Given the description of an element on the screen output the (x, y) to click on. 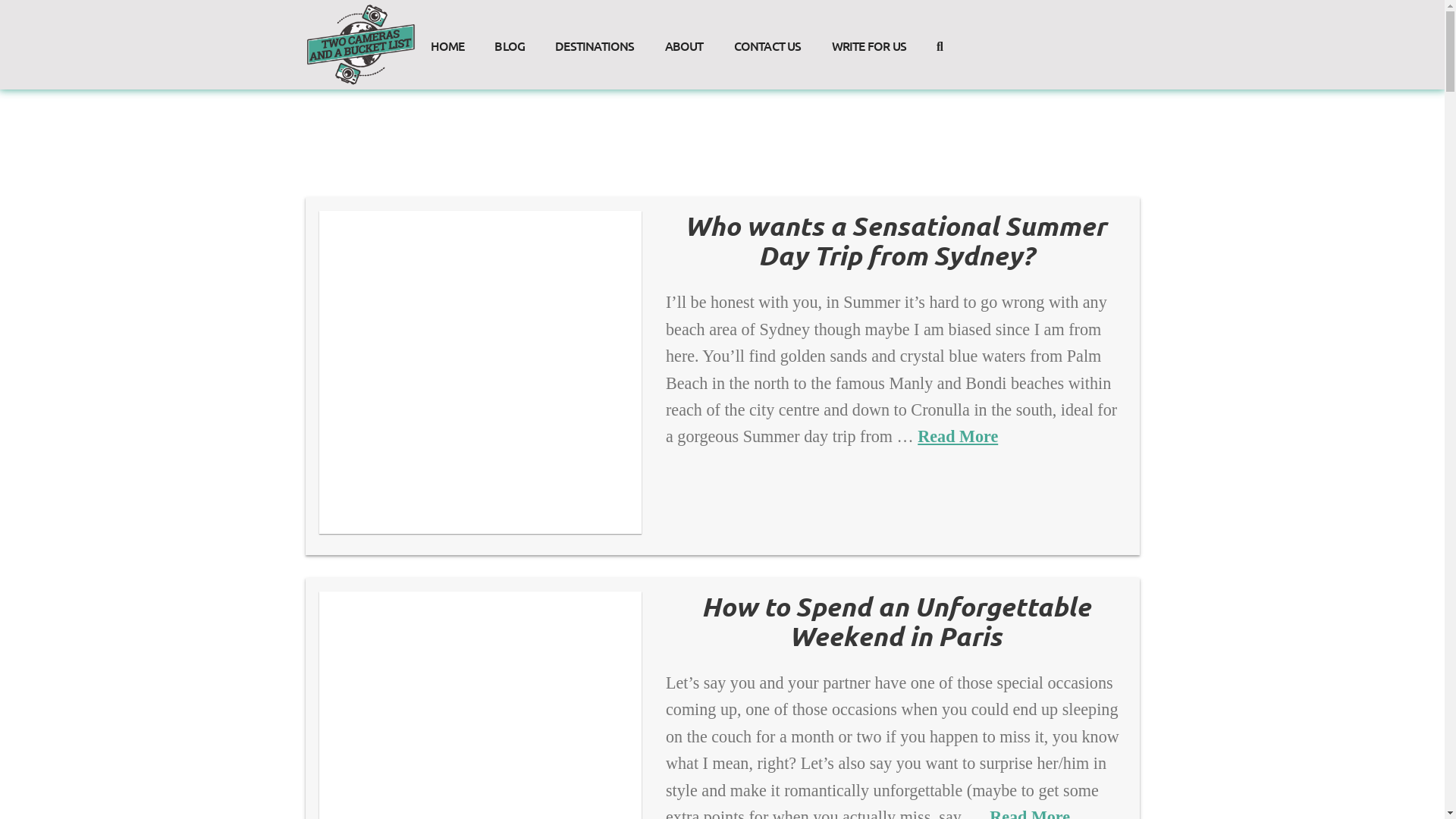
WRITE FOR US Element type: text (868, 19)
CONTACT US Element type: text (767, 19)
Who wants a Sensational Summer Day Trip from Sydney? Element type: text (895, 240)
DESTINATIONS Element type: text (594, 19)
ABOUT Element type: text (683, 19)
HOME Element type: text (447, 19)
BLOG Element type: text (509, 19)
How to Spend an Unforgettable Weekend in Paris Element type: text (895, 620)
Read More Element type: text (957, 435)
